Given the description of an element on the screen output the (x, y) to click on. 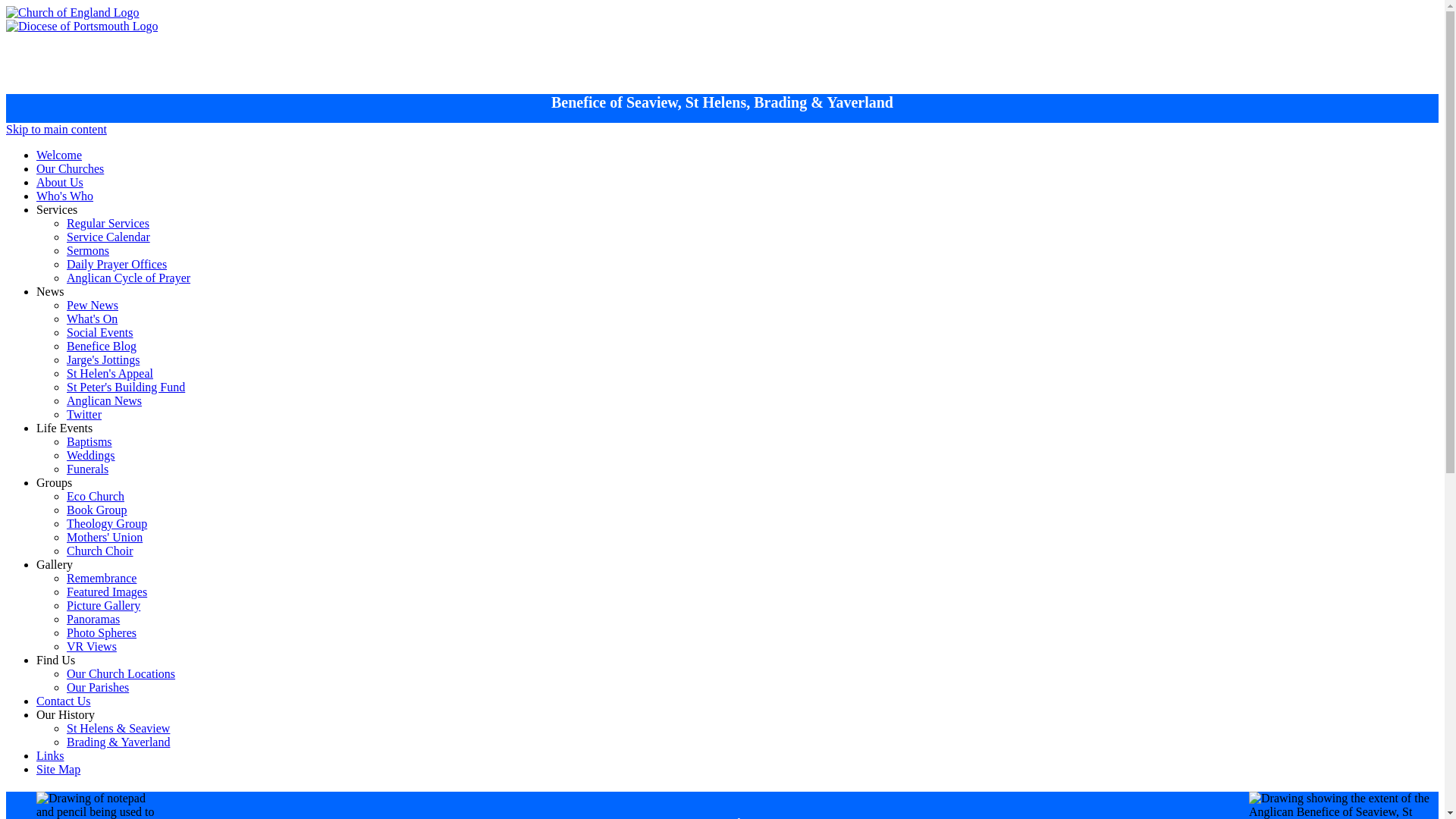
Daily Prayer Offices (116, 264)
Church Choir (99, 550)
Skip to main content (55, 128)
Our Churches (69, 168)
Mothers' Union (104, 536)
Services (56, 209)
Book Group (97, 509)
St Helen's Appeal (109, 373)
Baptisms (89, 440)
Panoramas (92, 618)
Photo Spheres (101, 632)
St Peter's Building Fund (125, 386)
Funerals (86, 468)
Eco Church (94, 495)
